Given the description of an element on the screen output the (x, y) to click on. 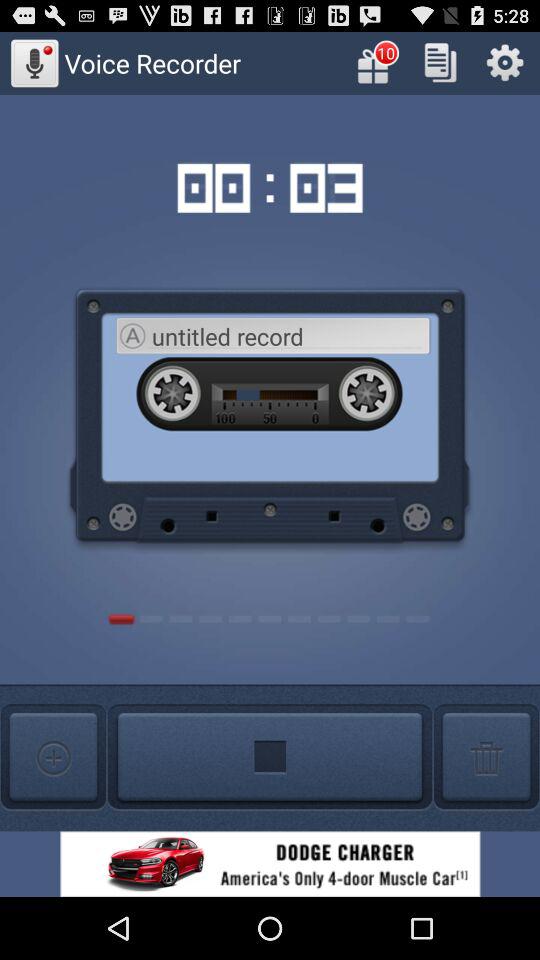
banner advertisement (270, 864)
